Given the description of an element on the screen output the (x, y) to click on. 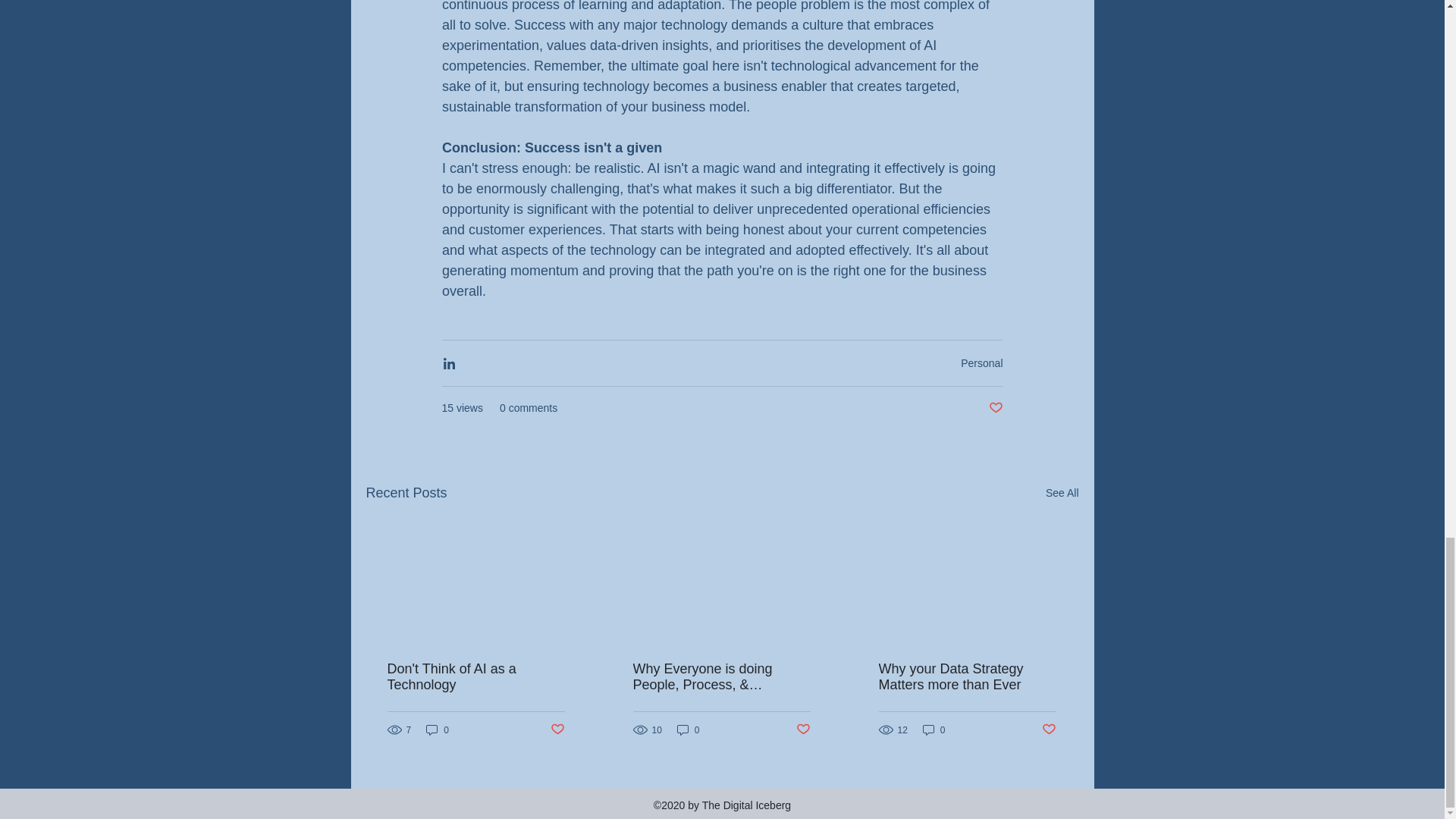
Post not marked as liked (803, 729)
See All (1061, 493)
Post not marked as liked (1049, 729)
Post not marked as liked (557, 729)
0 (437, 729)
Post not marked as liked (995, 408)
Personal (981, 363)
Why your Data Strategy Matters more than Ever (966, 676)
Don't Think of AI as a Technology (475, 676)
0 (688, 729)
0 (934, 729)
